Given the description of an element on the screen output the (x, y) to click on. 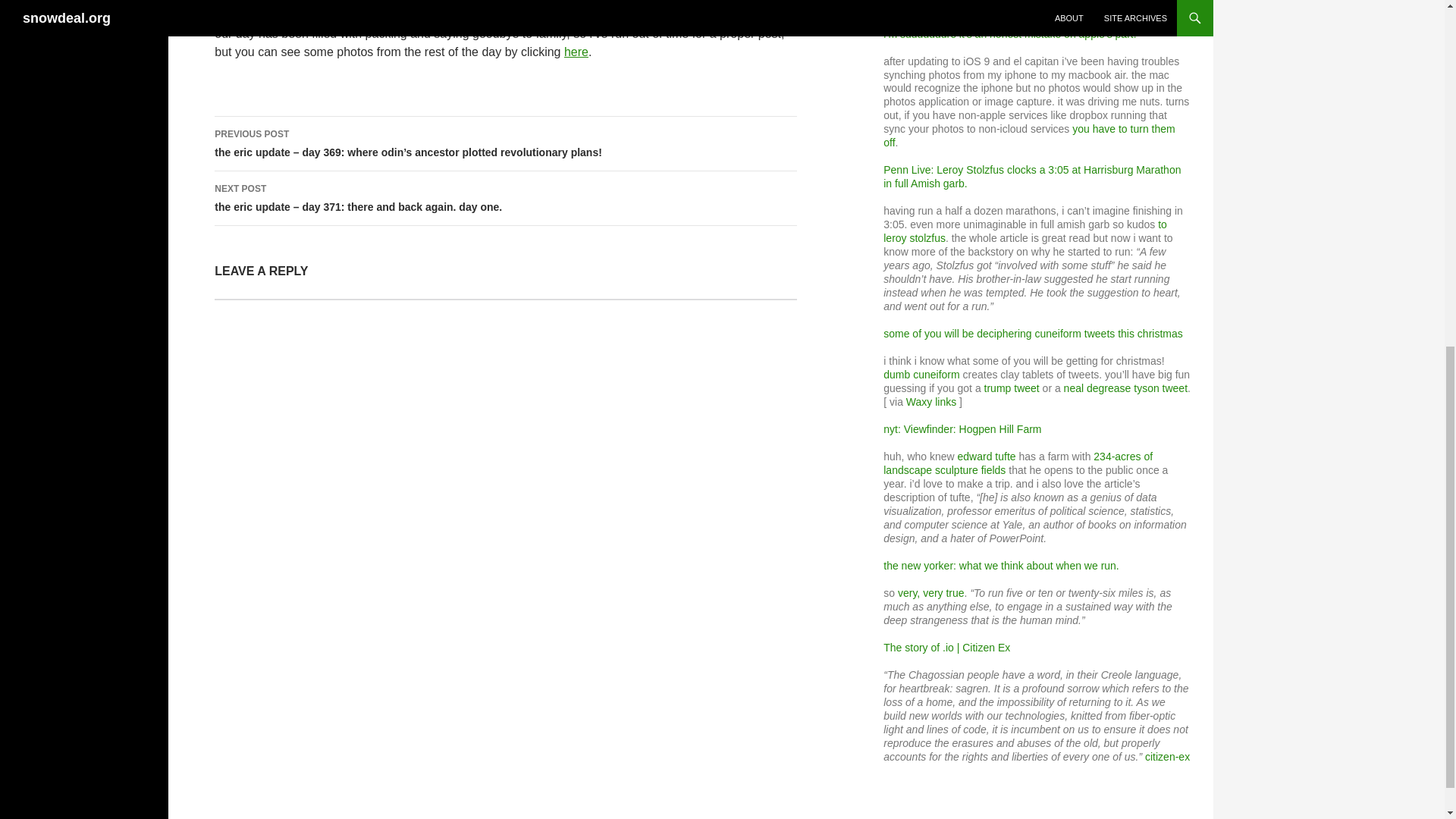
here (576, 51)
you have to turn them off (1028, 135)
cracked (1045, 6)
dumb cuneiform (921, 374)
to leroy stolzfus (1025, 231)
trump tweet (1011, 387)
